Given the description of an element on the screen output the (x, y) to click on. 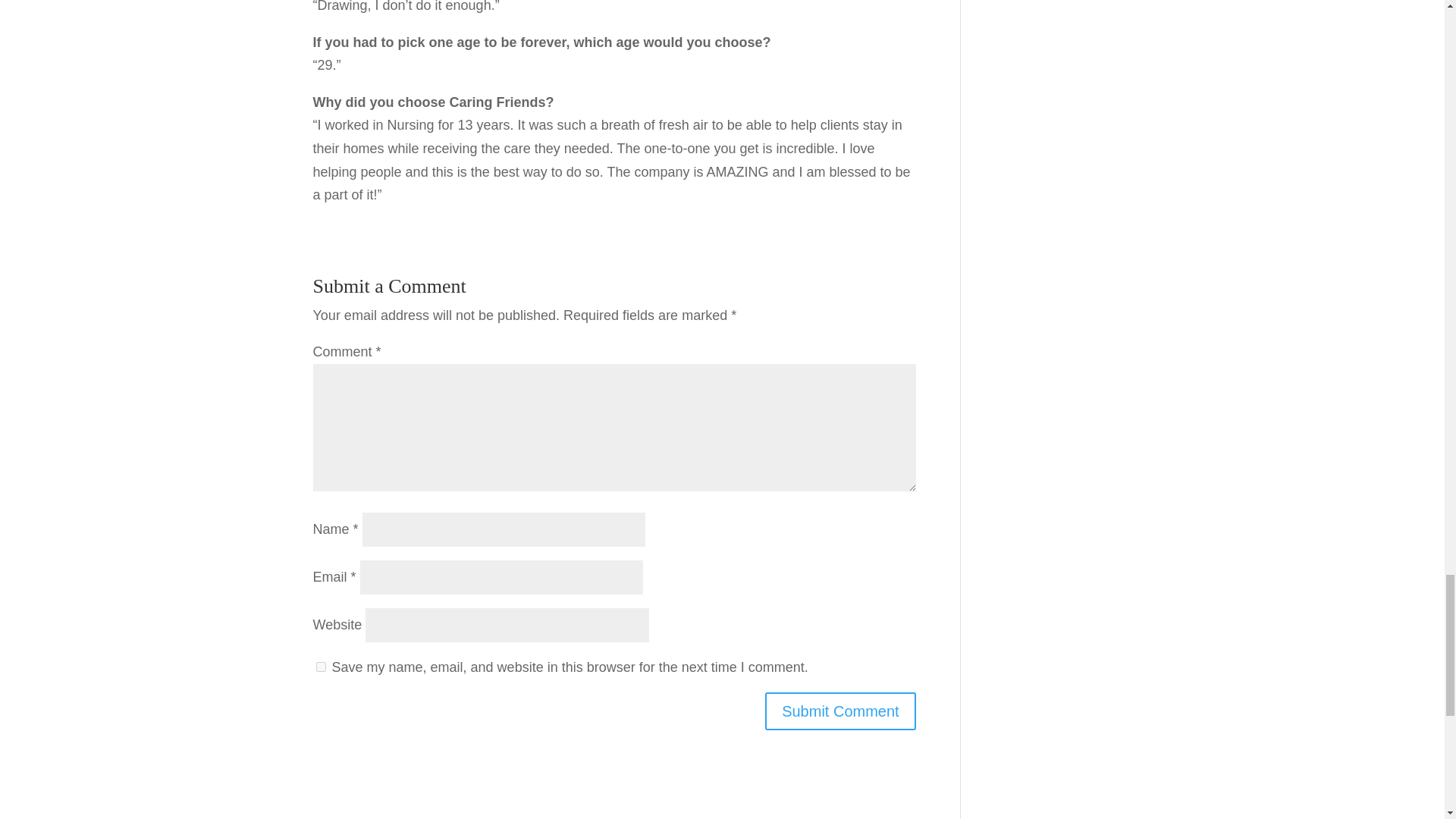
yes (319, 666)
Submit Comment (840, 711)
Submit Comment (840, 711)
